Given the description of an element on the screen output the (x, y) to click on. 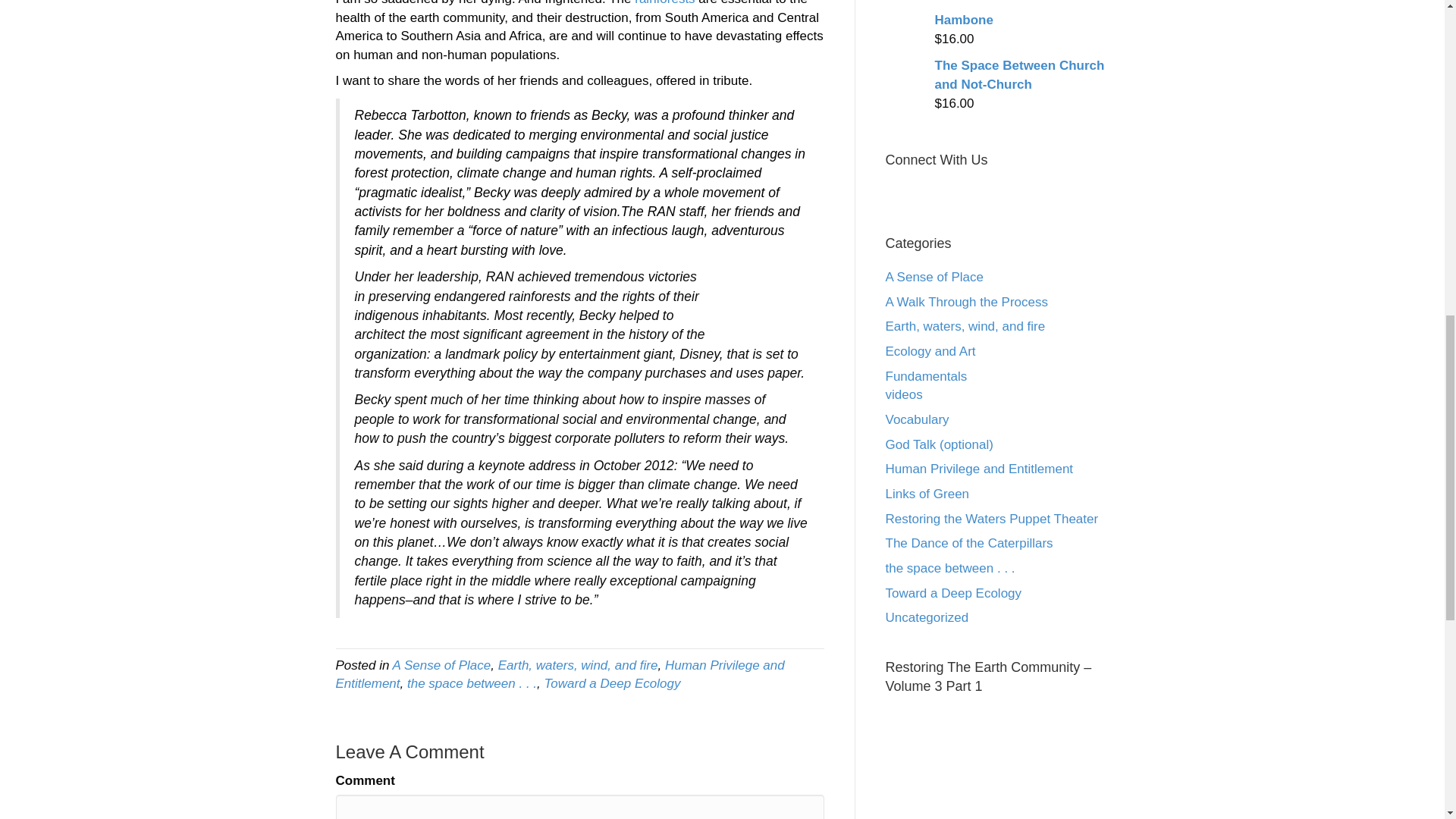
becky (766, 286)
rainforests (664, 2)
